Given the description of an element on the screen output the (x, y) to click on. 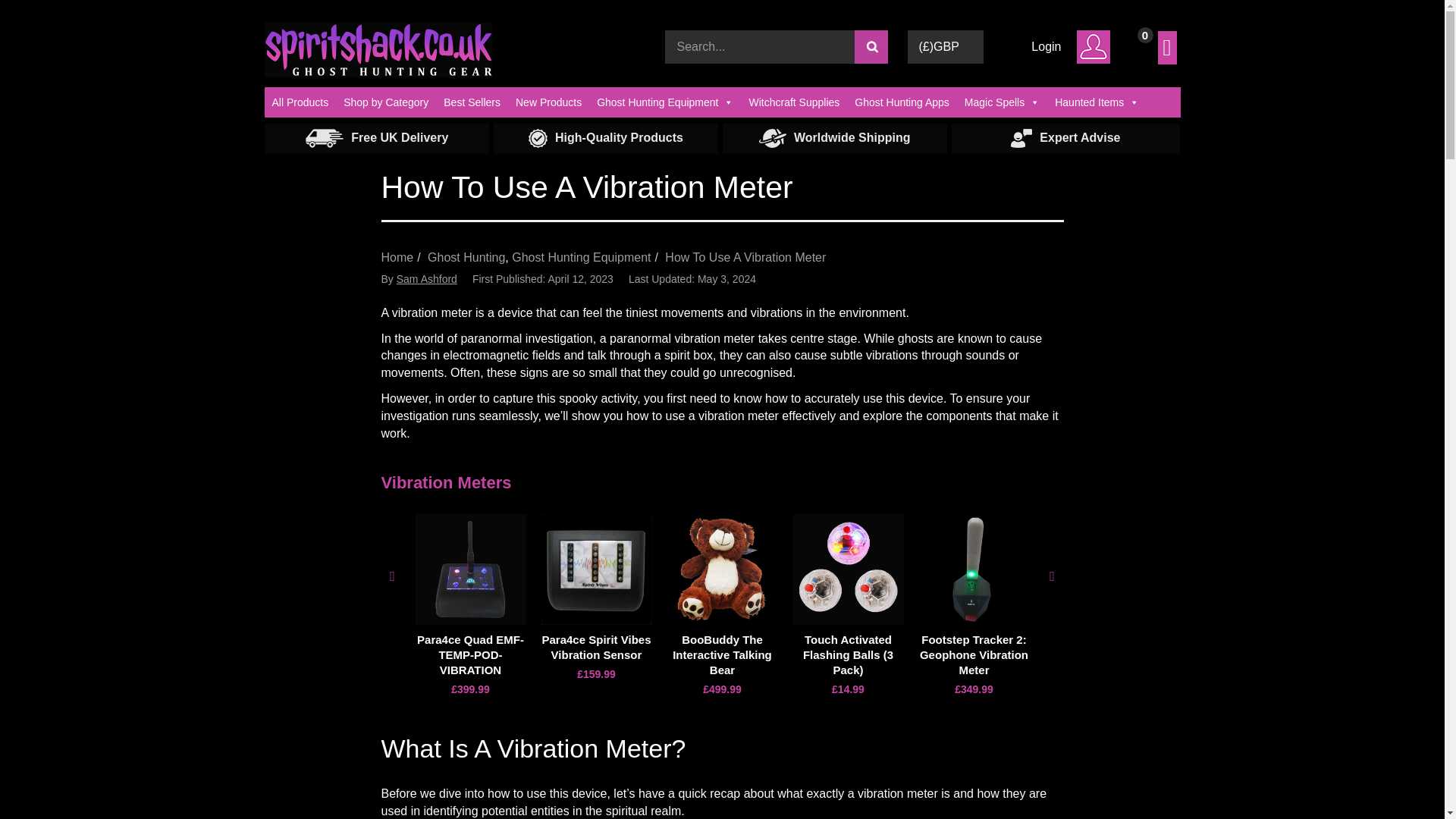
Ghost Hunting Equipment (665, 101)
BooBuddy Interactive Bear (721, 569)
New Products (548, 101)
my account (1093, 46)
Shop by Category (385, 101)
All Products (299, 101)
Author - Sam Ashford (426, 278)
0 (1149, 32)
Search (869, 46)
SpiritShack (377, 47)
